Given the description of an element on the screen output the (x, y) to click on. 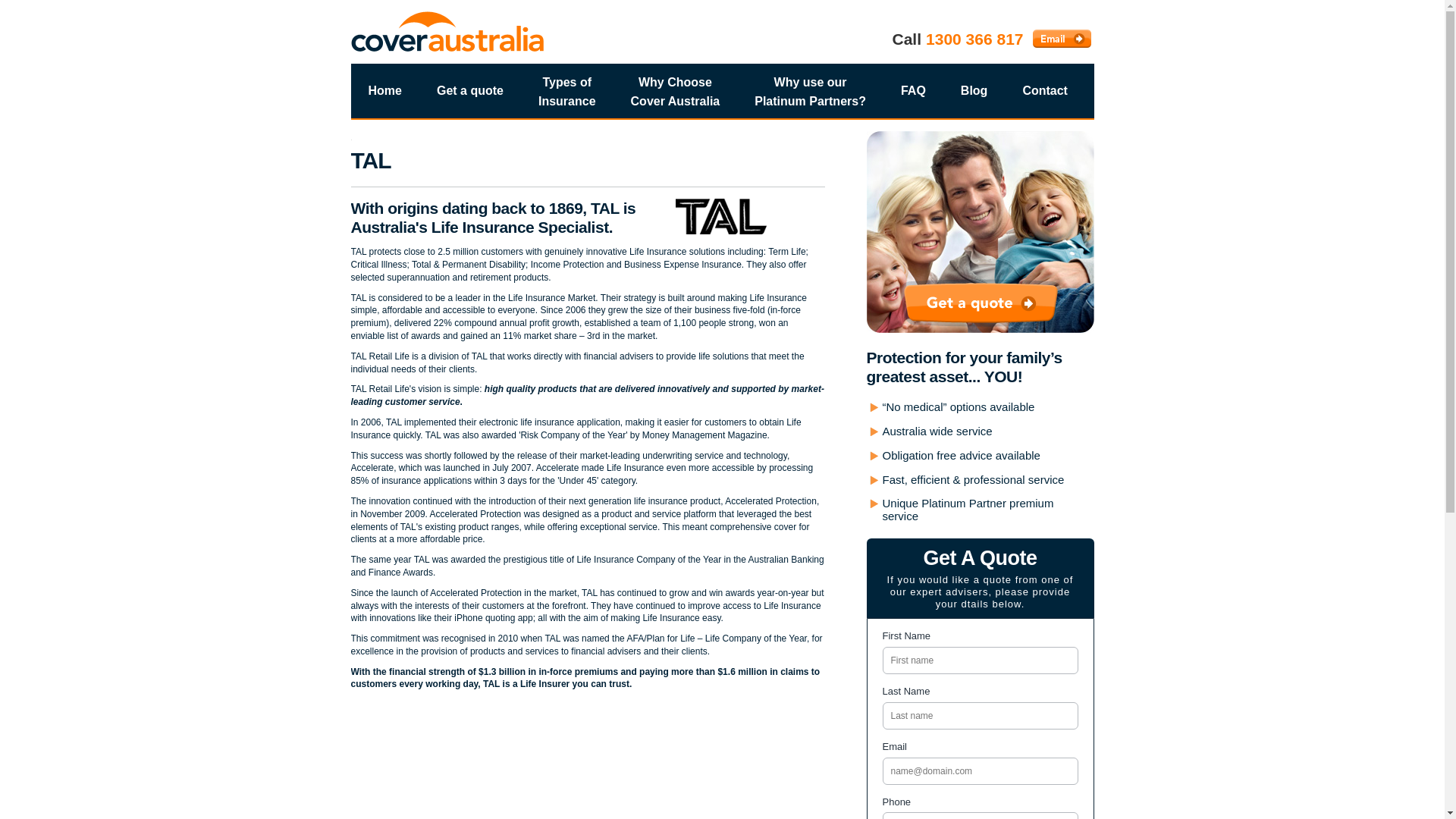
Email Cover Australia Element type: text (1061, 38)
Home Element type: text (384, 91)
Why use our
Platinum Partners? Element type: text (810, 96)
1300 366 817 Element type: text (973, 38)
Why Choose
Cover Australia Element type: text (675, 96)
Types of
Insurance Element type: text (566, 96)
Get a quote Element type: text (979, 302)
Blog Element type: text (974, 91)
Contact Element type: text (1044, 91)
Get a quote Element type: text (469, 91)
FAQ Element type: text (913, 91)
